Given the description of an element on the screen output the (x, y) to click on. 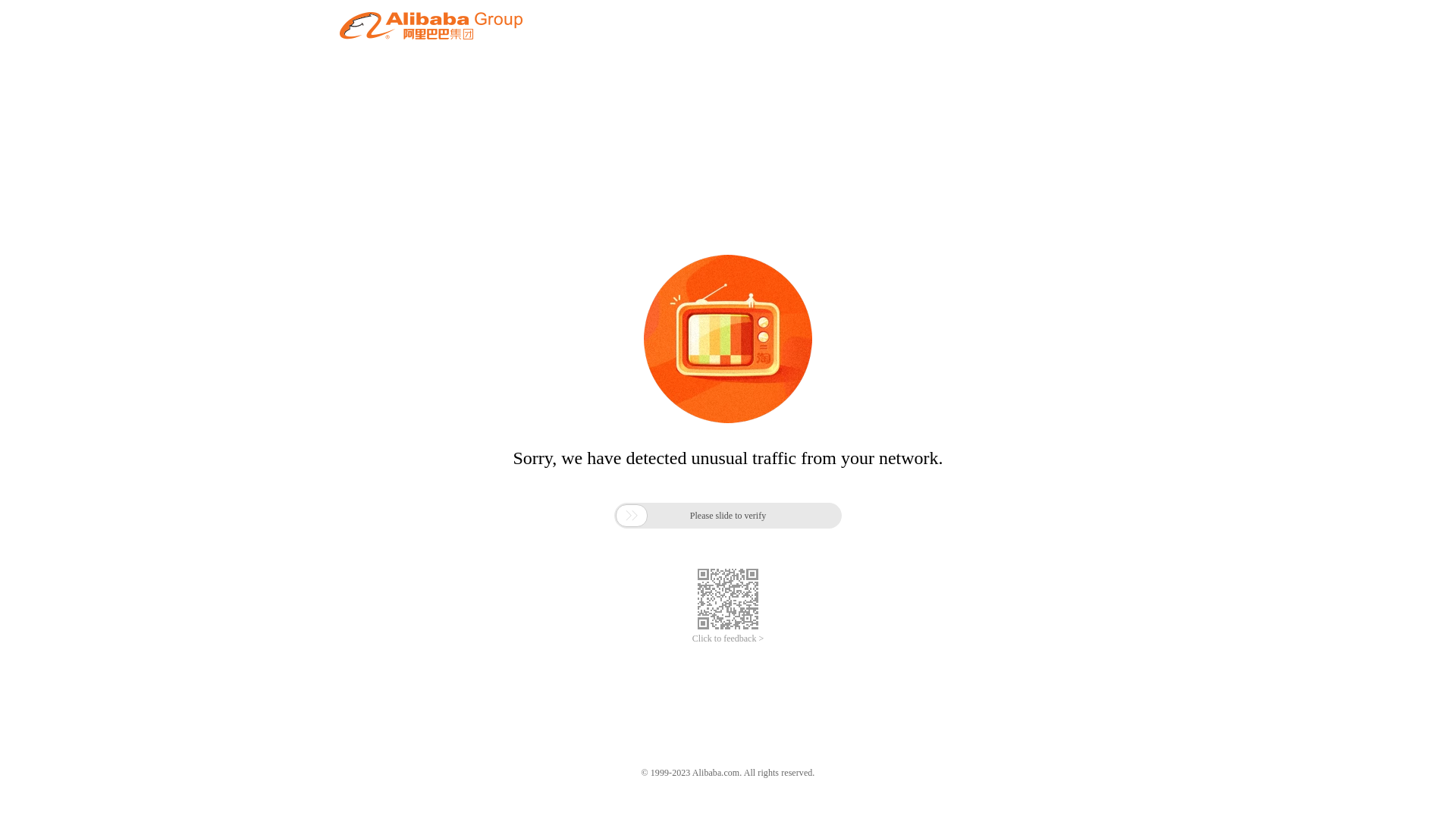
Click to feedback > Element type: text (727, 638)
